Given the description of an element on the screen output the (x, y) to click on. 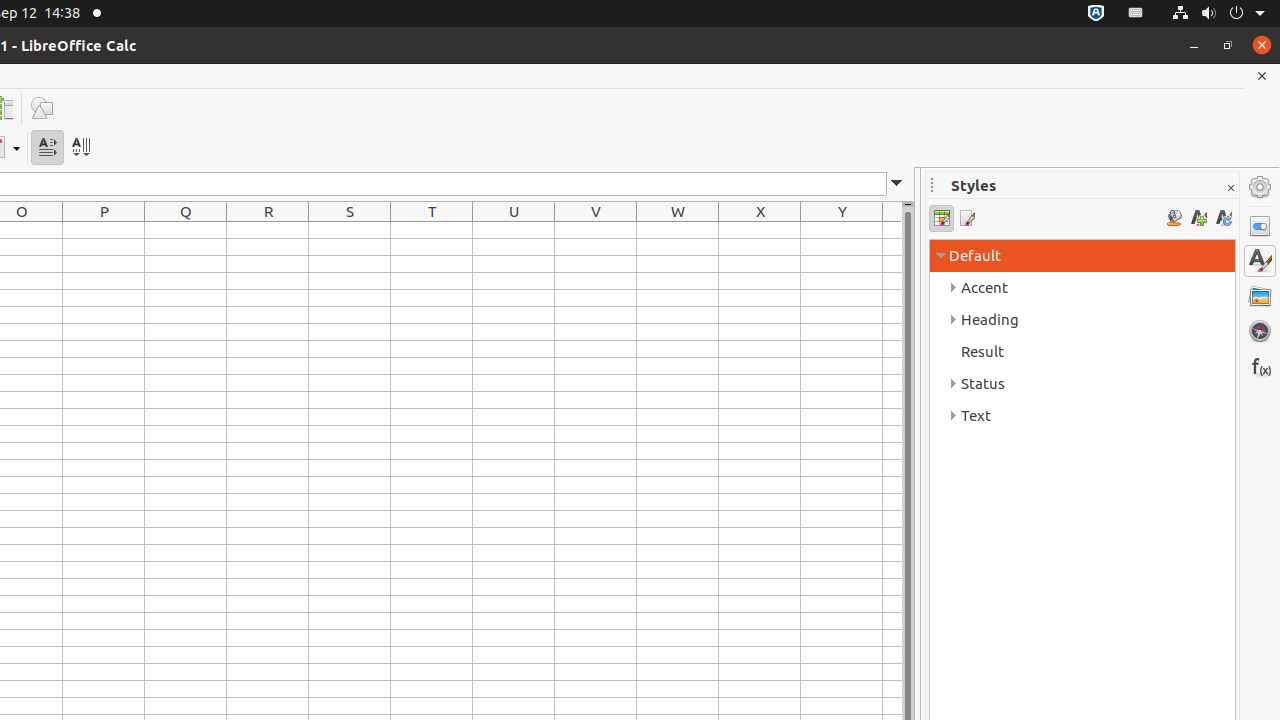
Gallery Element type: radio-button (1260, 296)
W1 Element type: table-cell (678, 230)
R1 Element type: table-cell (268, 230)
U1 Element type: table-cell (514, 230)
